Given the description of an element on the screen output the (x, y) to click on. 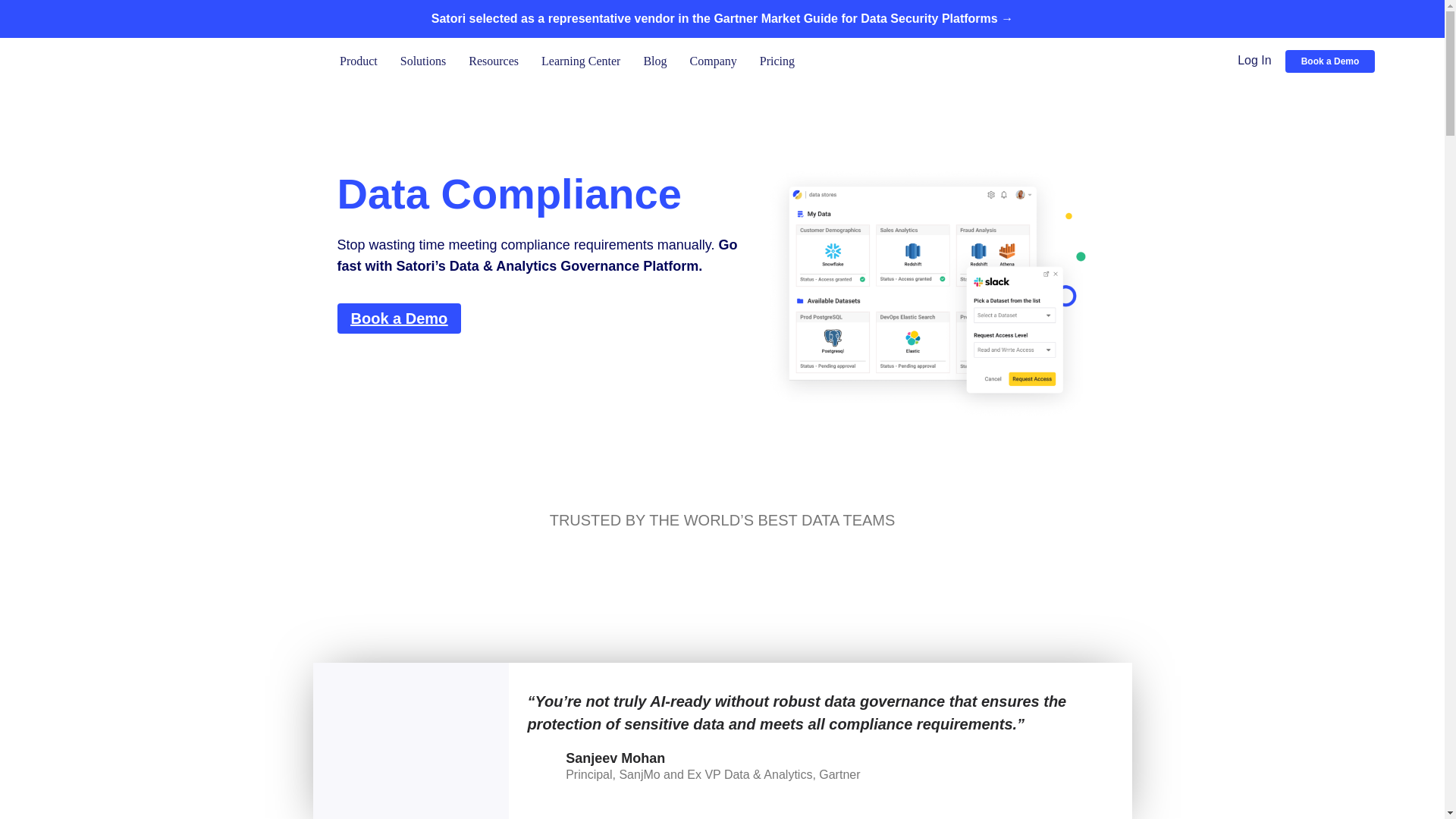
Solutions (422, 60)
Product (358, 60)
Product (358, 60)
